Given the description of an element on the screen output the (x, y) to click on. 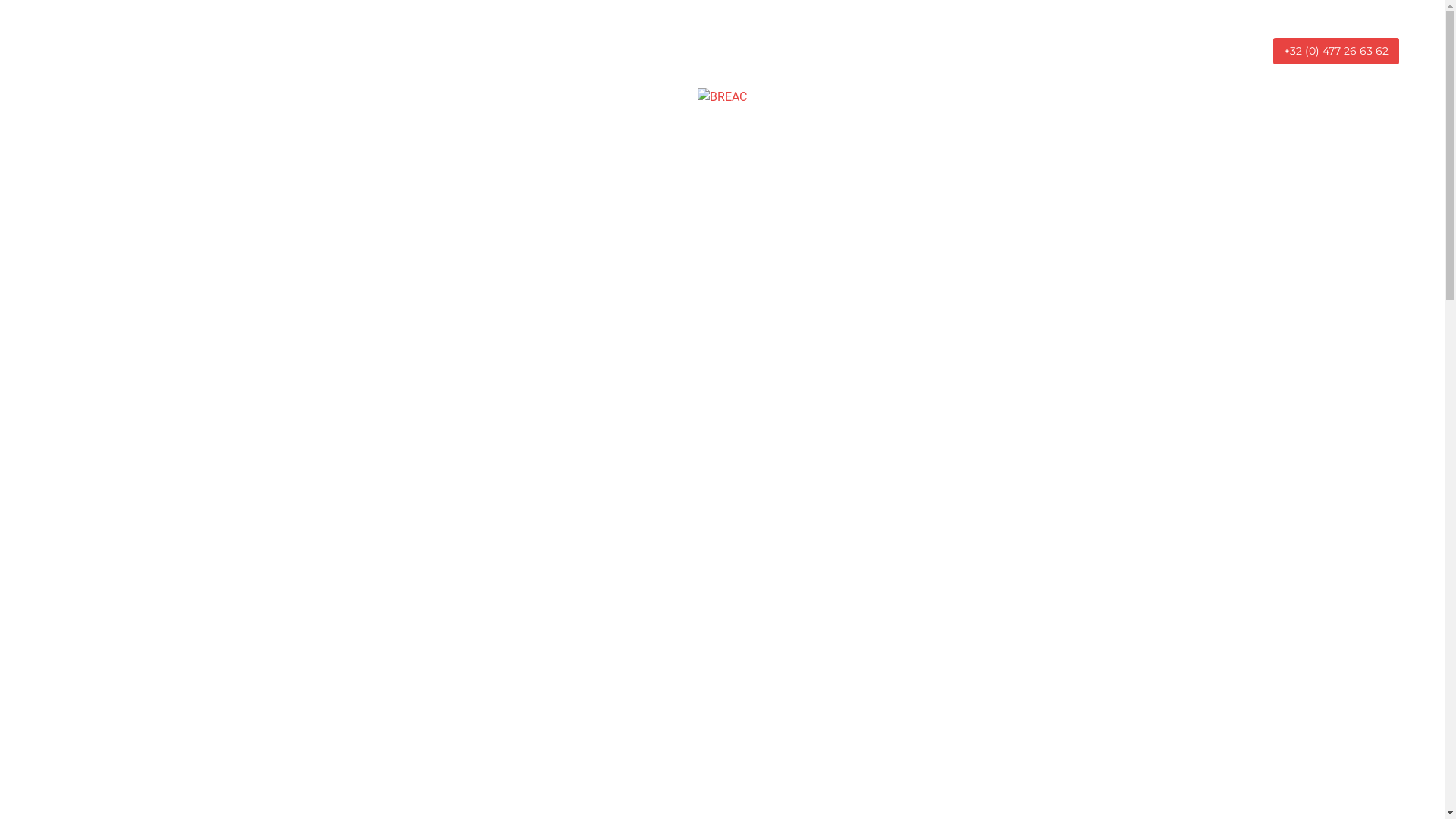
CONTACT Element type: text (944, 139)
ACCUEIL Element type: text (497, 139)
PROJETS EN COURS Element type: text (839, 139)
+32 (0) 477 26 63 62 Element type: text (1336, 50)
